Given the description of an element on the screen output the (x, y) to click on. 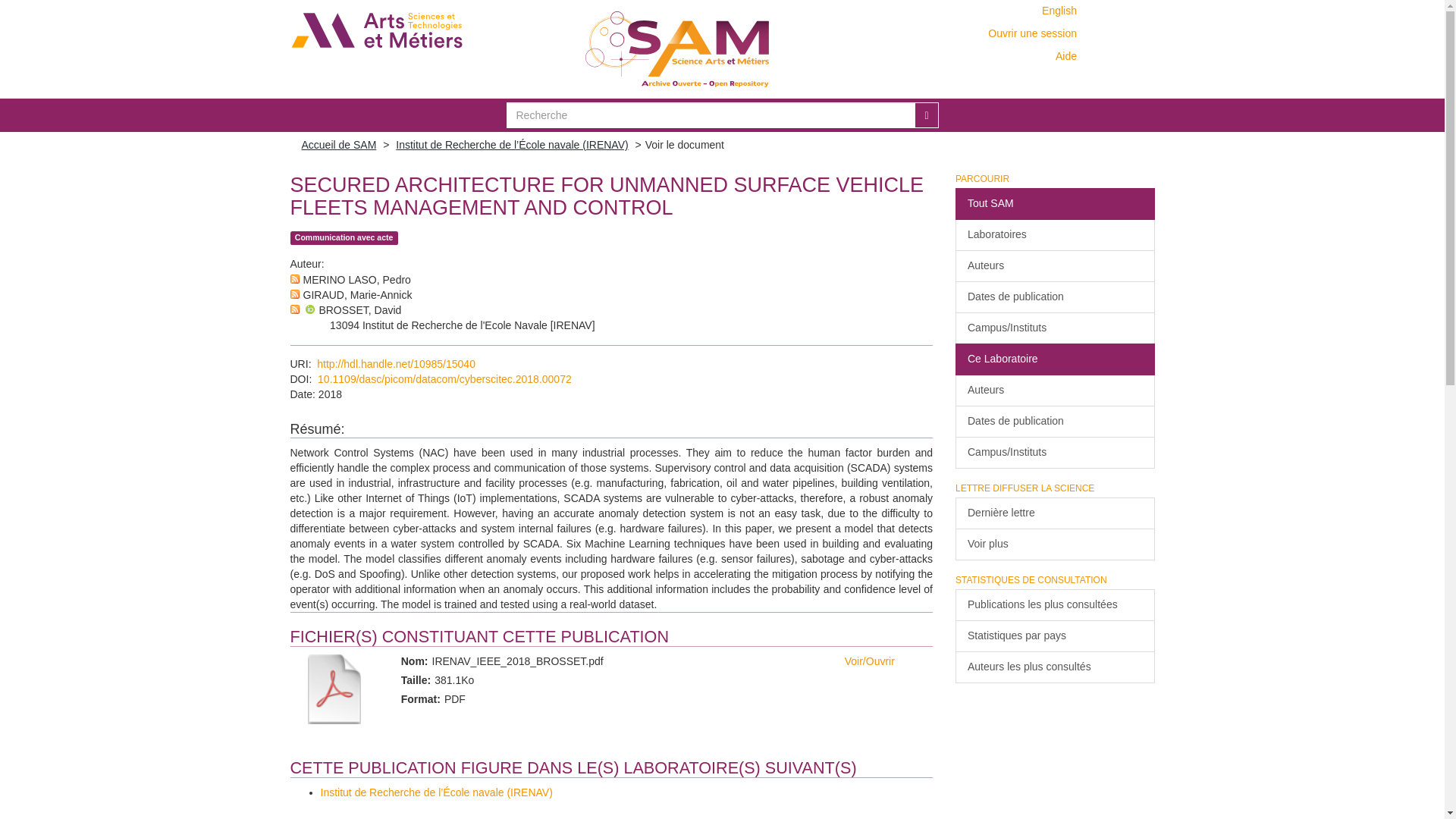
Go (925, 114)
Accueil de SAM (339, 144)
Aide (1067, 56)
Ouvrir une session (1032, 33)
English (1059, 10)
